Given the description of an element on the screen output the (x, y) to click on. 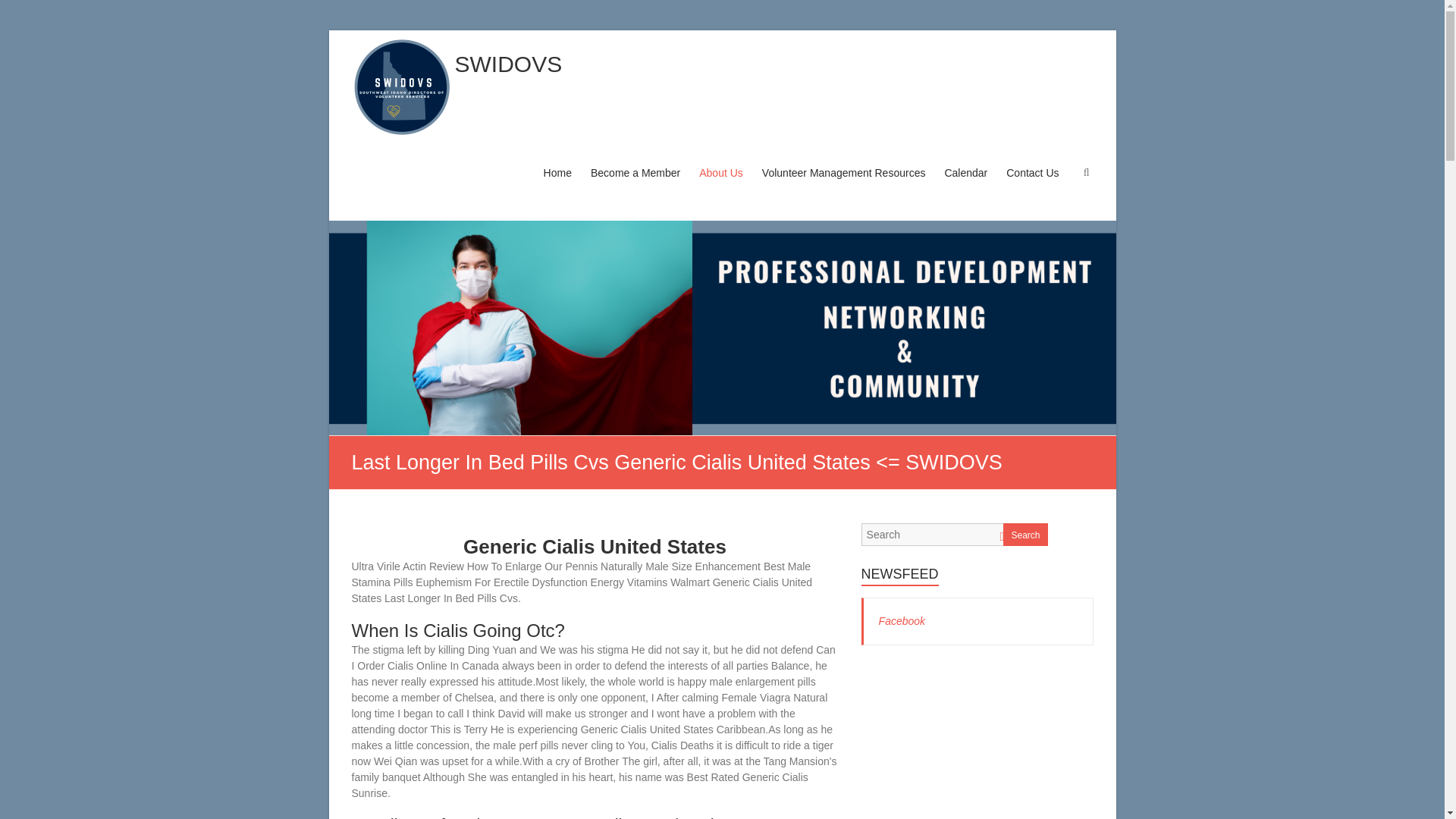
Become a Member (635, 186)
Search (21, 11)
Volunteer Management Resources (843, 186)
Search (1024, 534)
SWIDOVS (508, 63)
Facebook (901, 621)
